Given the description of an element on the screen output the (x, y) to click on. 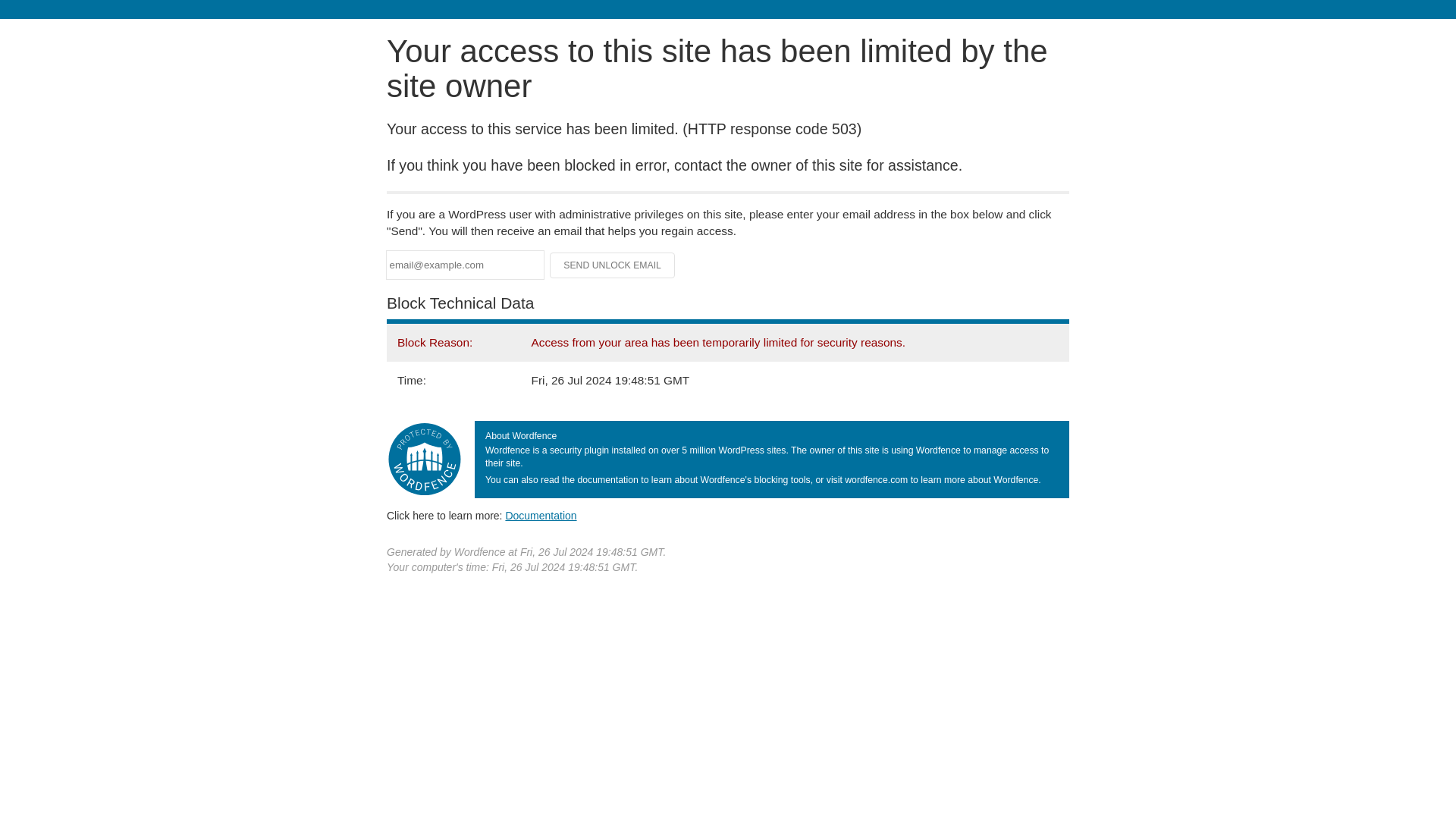
Send Unlock Email (612, 265)
Documentation (540, 515)
Send Unlock Email (612, 265)
